Given the description of an element on the screen output the (x, y) to click on. 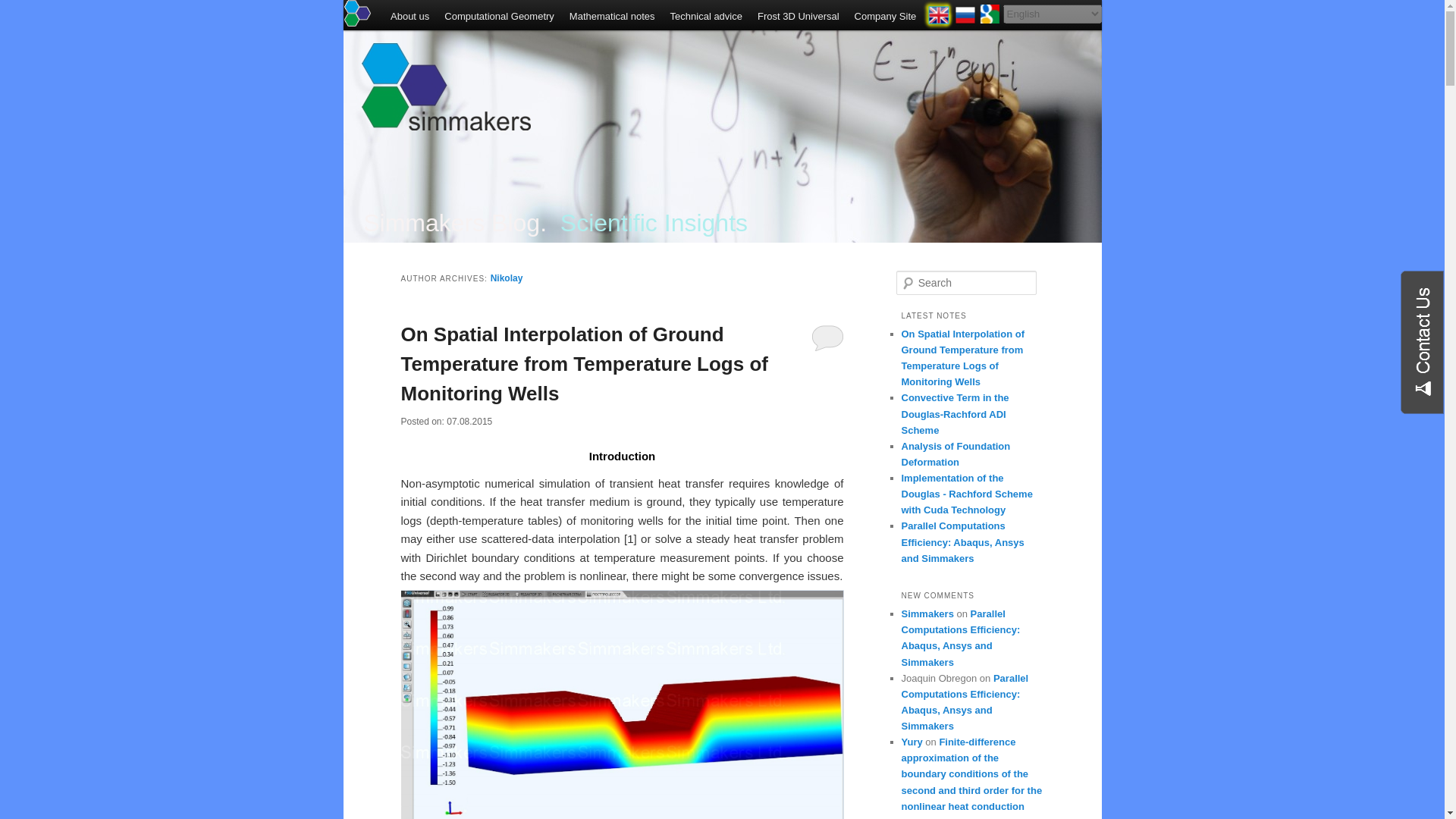
Company Site (885, 16)
Computational Geometry (499, 16)
About us (409, 16)
Mathematical notes (612, 16)
You are reading our English blog (937, 17)
Nikolay (506, 277)
Frost 3D Universal (798, 16)
Read our Russian blog (965, 17)
Ground Temperature Interpolation (621, 704)
Nikolay (506, 277)
Technical advice (705, 16)
